Given the description of an element on the screen output the (x, y) to click on. 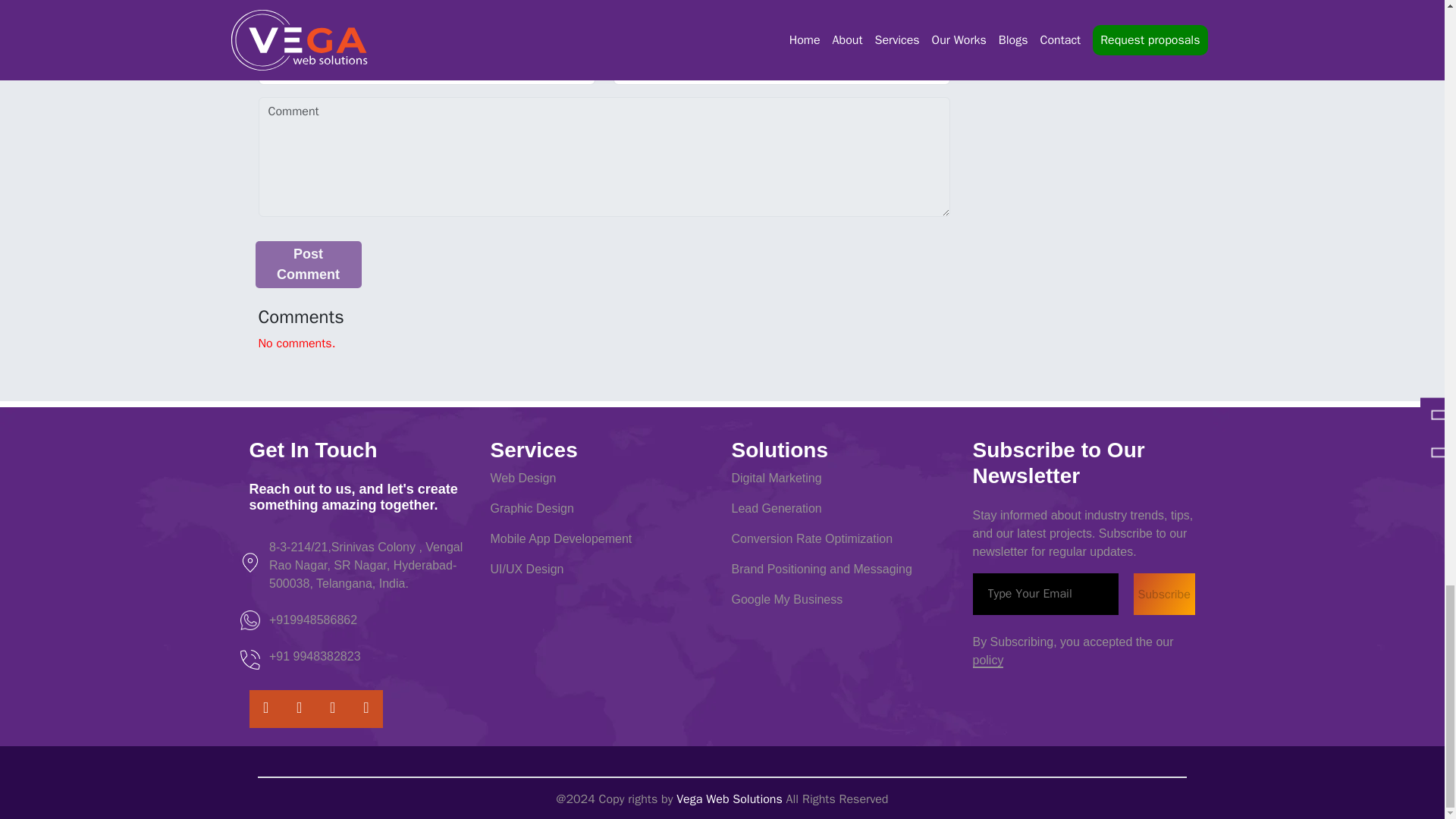
Post Comment (307, 264)
Web Design (522, 477)
Digital Marketing (775, 477)
Mobile App Developement (560, 538)
Graphic Design (531, 508)
